Given the description of an element on the screen output the (x, y) to click on. 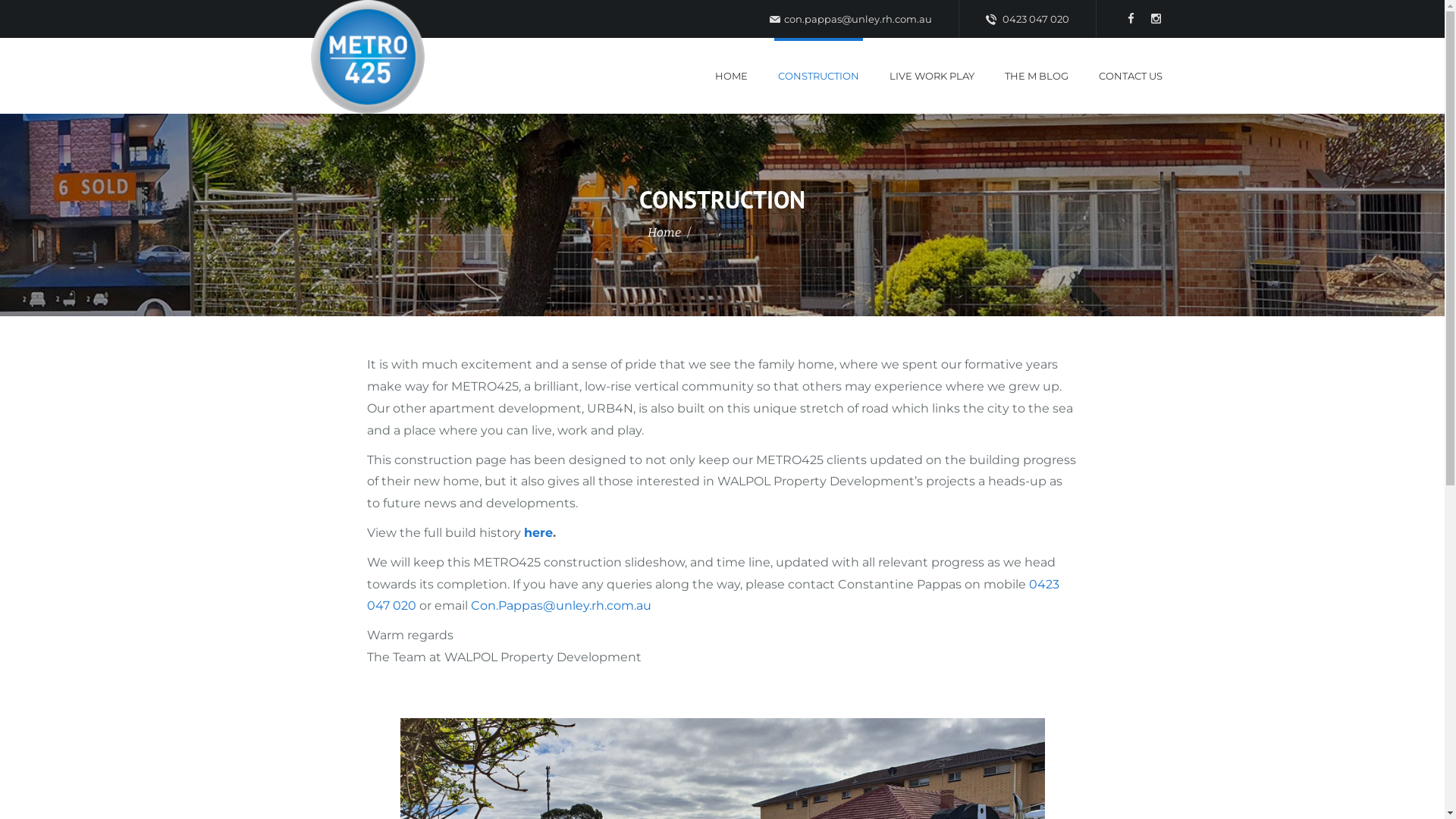
LIVE WORK PLAY Element type: text (931, 75)
HOME Element type: text (731, 75)
ua.moc.hr.yelnu@sappap.noc Element type: text (849, 18)
CONTACT US Element type: text (1130, 75)
ua.moc.hr.yelnu@sappaP.noC Element type: text (560, 605)
0423 047 020 Element type: text (1027, 18)
Facebook Element type: hover (1130, 18)
Home Element type: text (663, 233)
Instagram Element type: hover (1156, 18)
CONSTRUCTION Element type: text (817, 75)
METRO425 Element type: hover (367, 56)
0423 047 020 Element type: text (713, 595)
here Element type: text (538, 532)
THE M BLOG Element type: text (1036, 75)
